Given the description of an element on the screen output the (x, y) to click on. 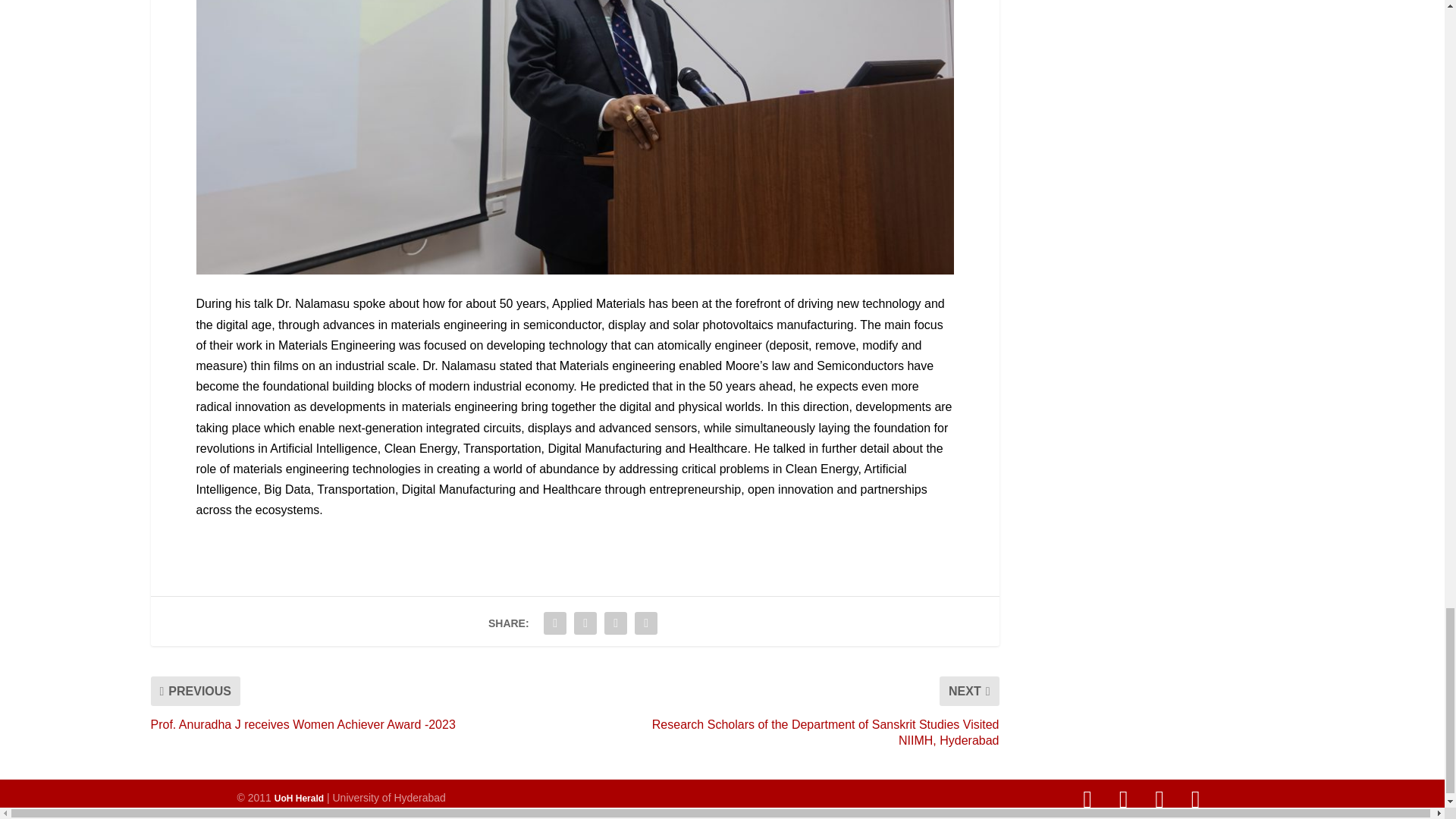
UoH Herald (299, 798)
